Given the description of an element on the screen output the (x, y) to click on. 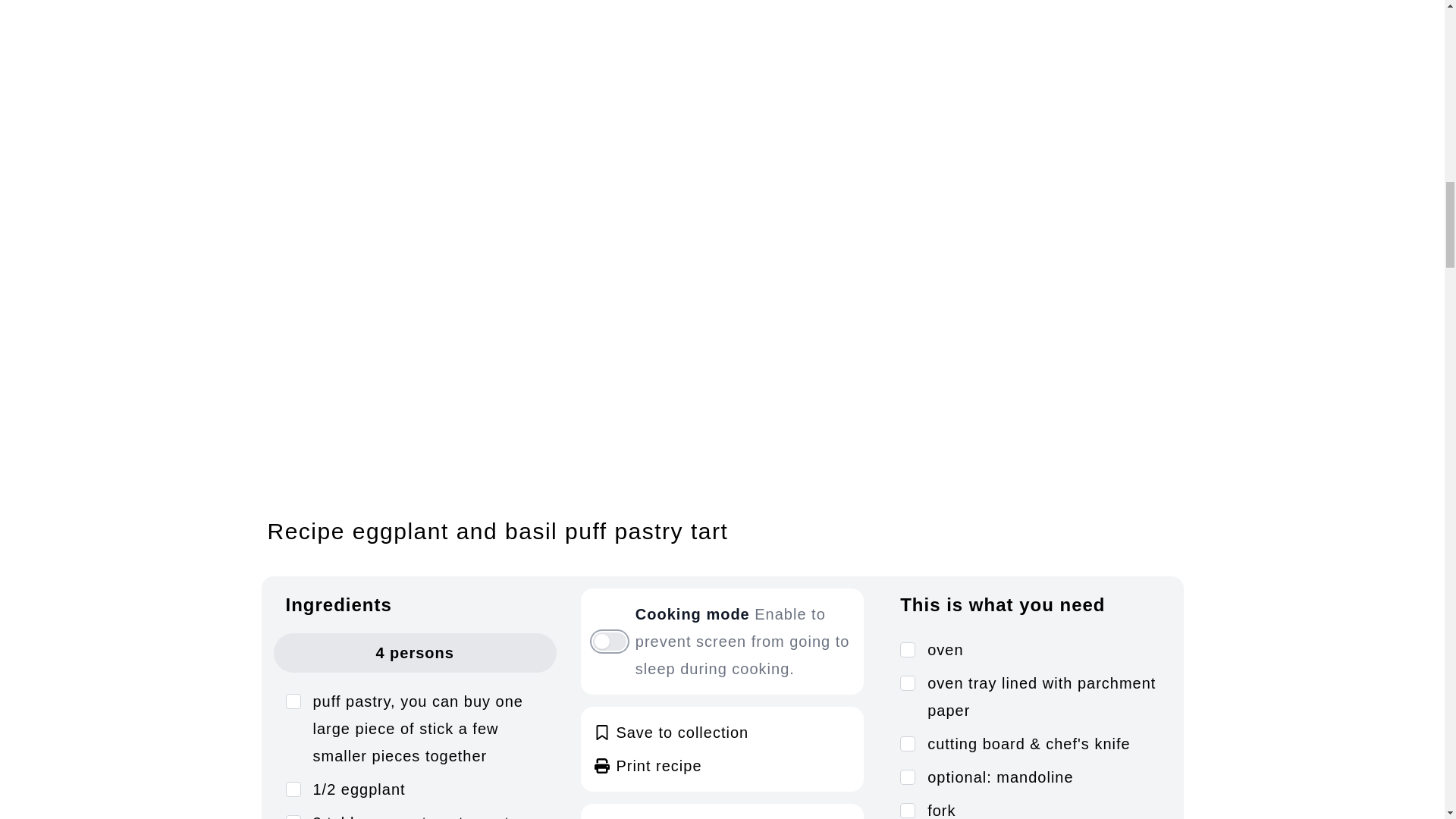
on (907, 683)
Print recipe (646, 765)
on (292, 816)
on (907, 776)
on (907, 649)
Save to collection (721, 732)
on (292, 789)
on (907, 810)
on (907, 743)
on (292, 701)
